Given the description of an element on the screen output the (x, y) to click on. 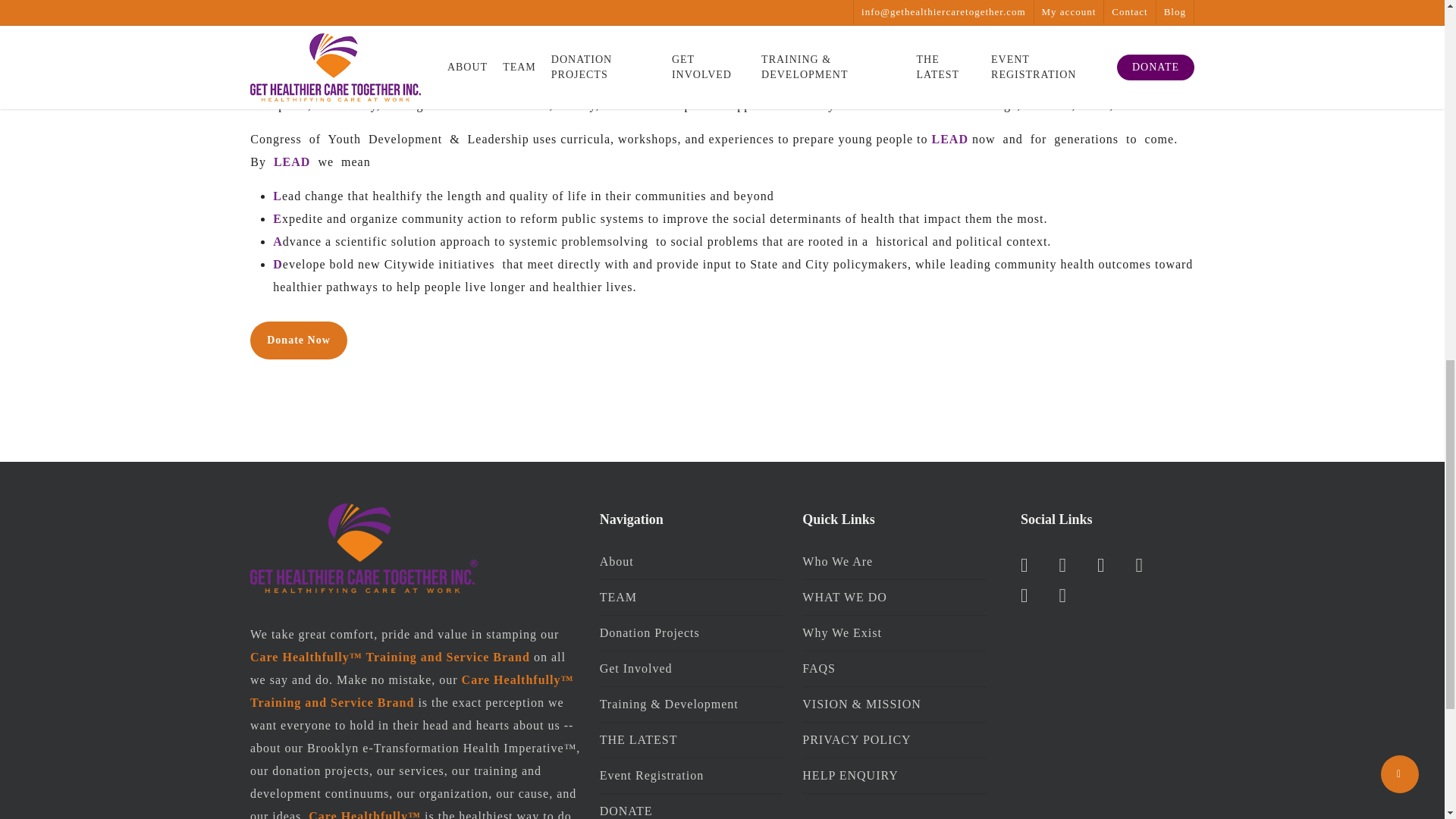
Why We Exist (894, 632)
Event Registration (691, 775)
Who We Are (894, 564)
FAQS (894, 668)
DONATE (691, 806)
About (691, 564)
Donation Projects (691, 632)
Get Involved (691, 668)
PRIVACY POLICY (894, 739)
HELP ENQUIRY (894, 775)
THE LATEST (691, 739)
WHAT WE DO (894, 597)
TEAM (691, 597)
Donate Now (298, 340)
